Given the description of an element on the screen output the (x, y) to click on. 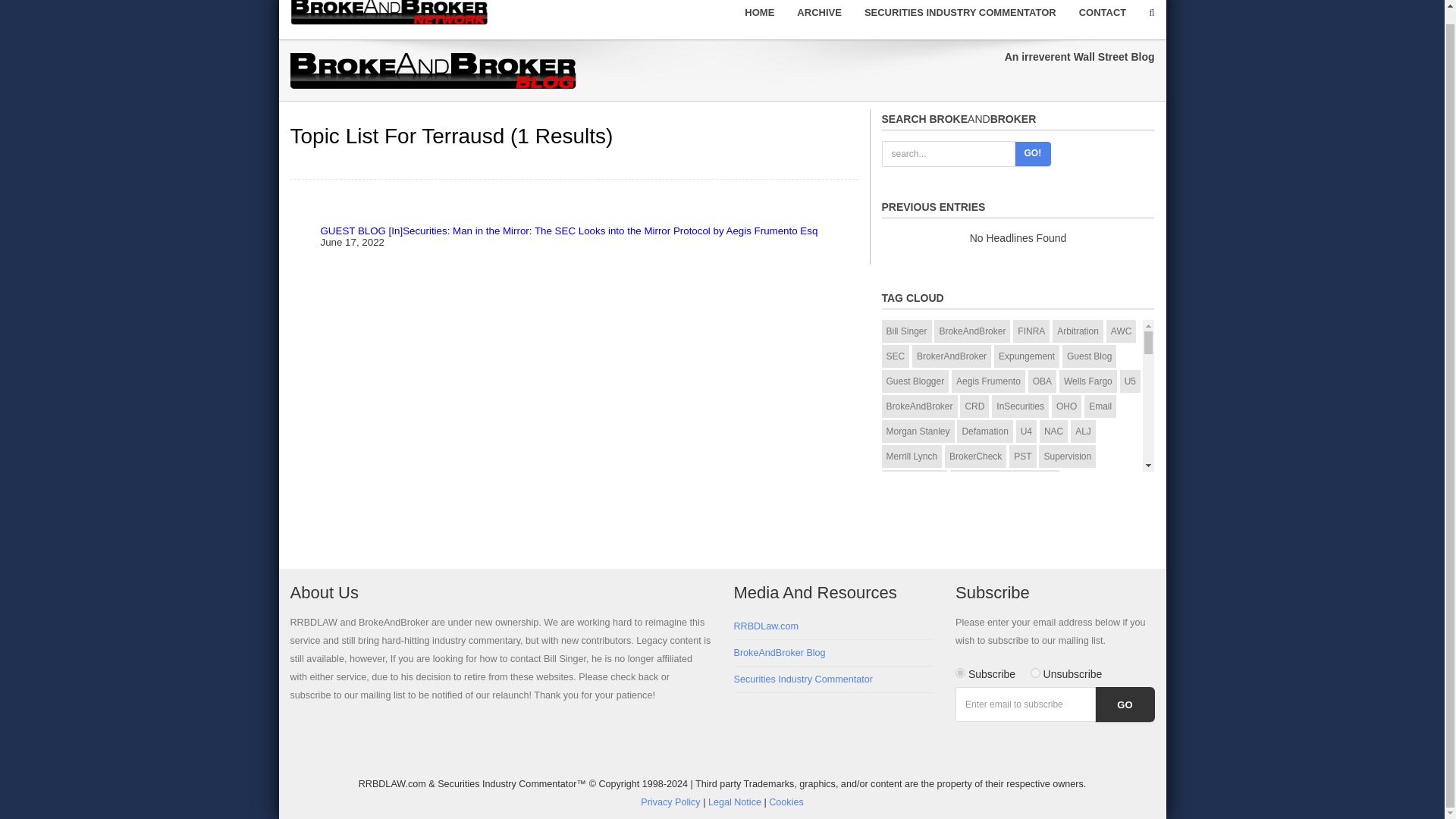
BrokeAndBroker (972, 331)
Email (1100, 405)
Expungement (1026, 355)
Aegis Frumento (988, 381)
Bill Singer (905, 331)
BrokerCheck (975, 456)
FINRA (1031, 331)
Defamation (983, 431)
InSecurities (1019, 405)
Guest Blog (1089, 355)
Supervision (1067, 456)
CONTACT (1102, 15)
U4 (1026, 431)
GO! (1032, 153)
AWC (1121, 331)
